Given the description of an element on the screen output the (x, y) to click on. 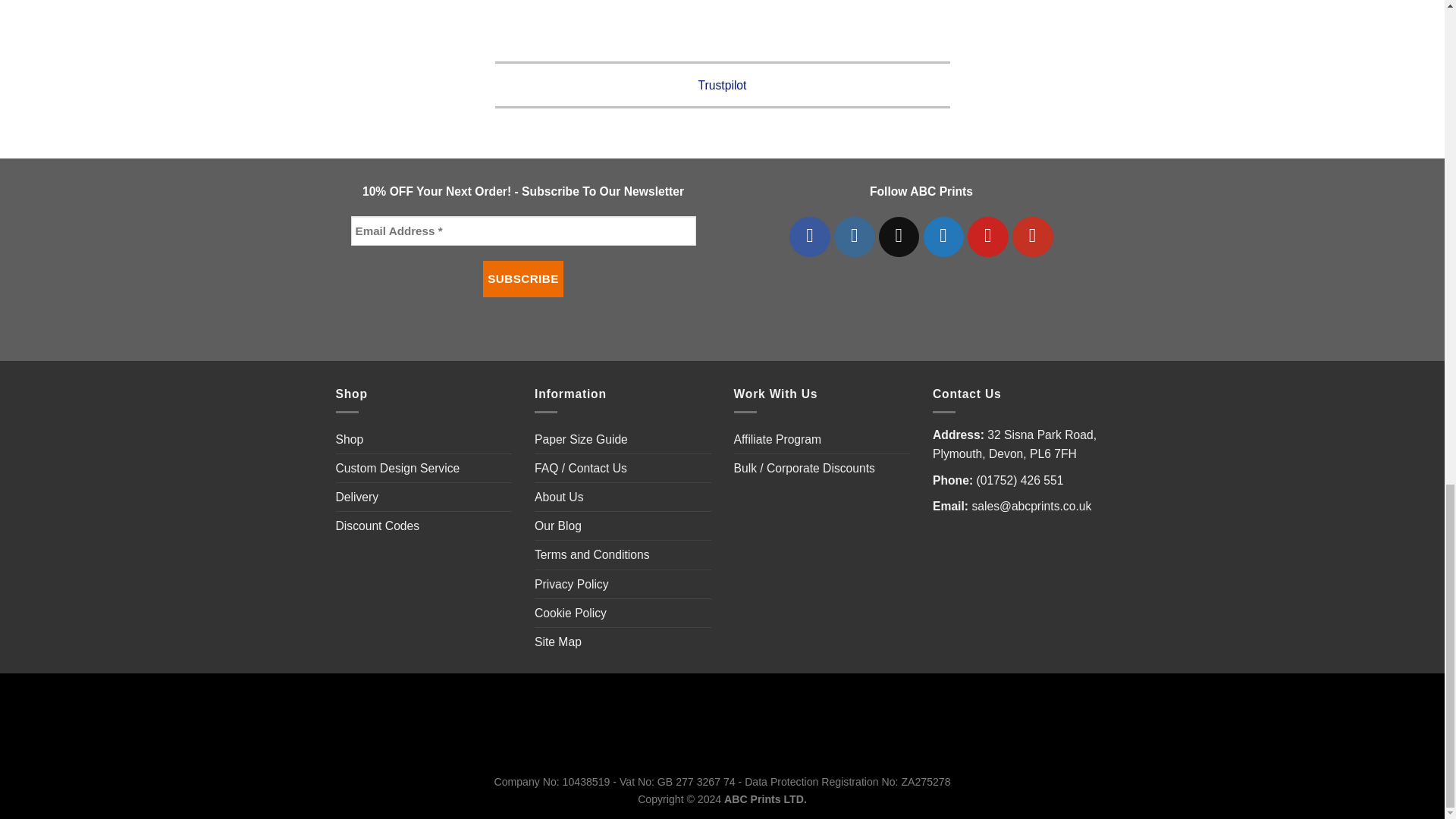
Follow on Instagram (854, 237)
Follow on Twitter (943, 237)
Follow on Pinterest (988, 237)
Follow on Facebook (809, 237)
Subscribe (523, 279)
Email Address (522, 230)
Follow on TikTok (899, 237)
